Given the description of an element on the screen output the (x, y) to click on. 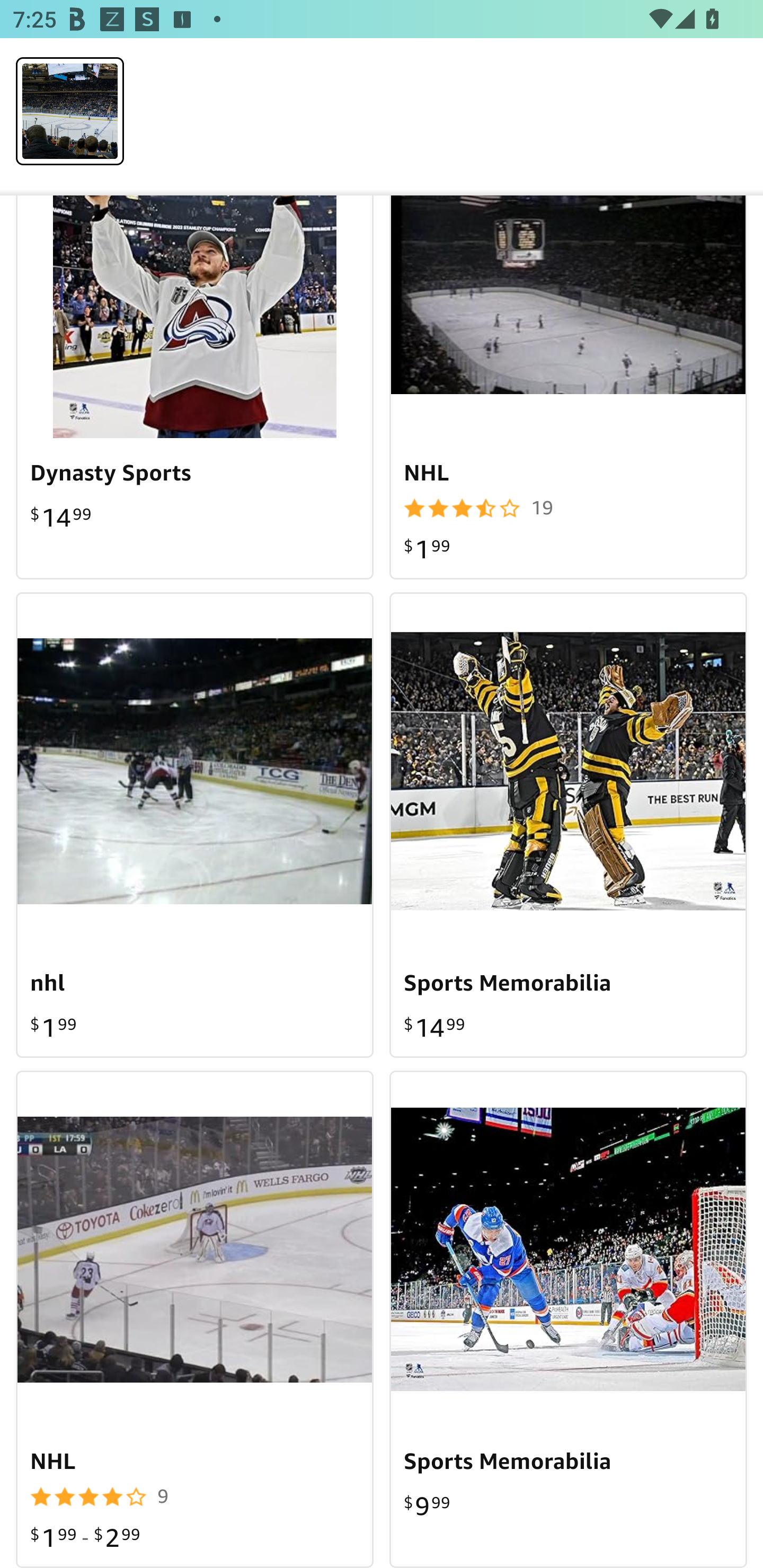
Dynasty Sports $ 14 99 (194, 388)
NHL 19 $ 1 99 (567, 388)
nhl $ 1 99 (194, 825)
Sports Memorabilia $ 14 99 (567, 825)
NHL 9 $ 1 99  -  $ 2 99 (194, 1319)
Sports Memorabilia $ 9 99 (567, 1319)
